Given the description of an element on the screen output the (x, y) to click on. 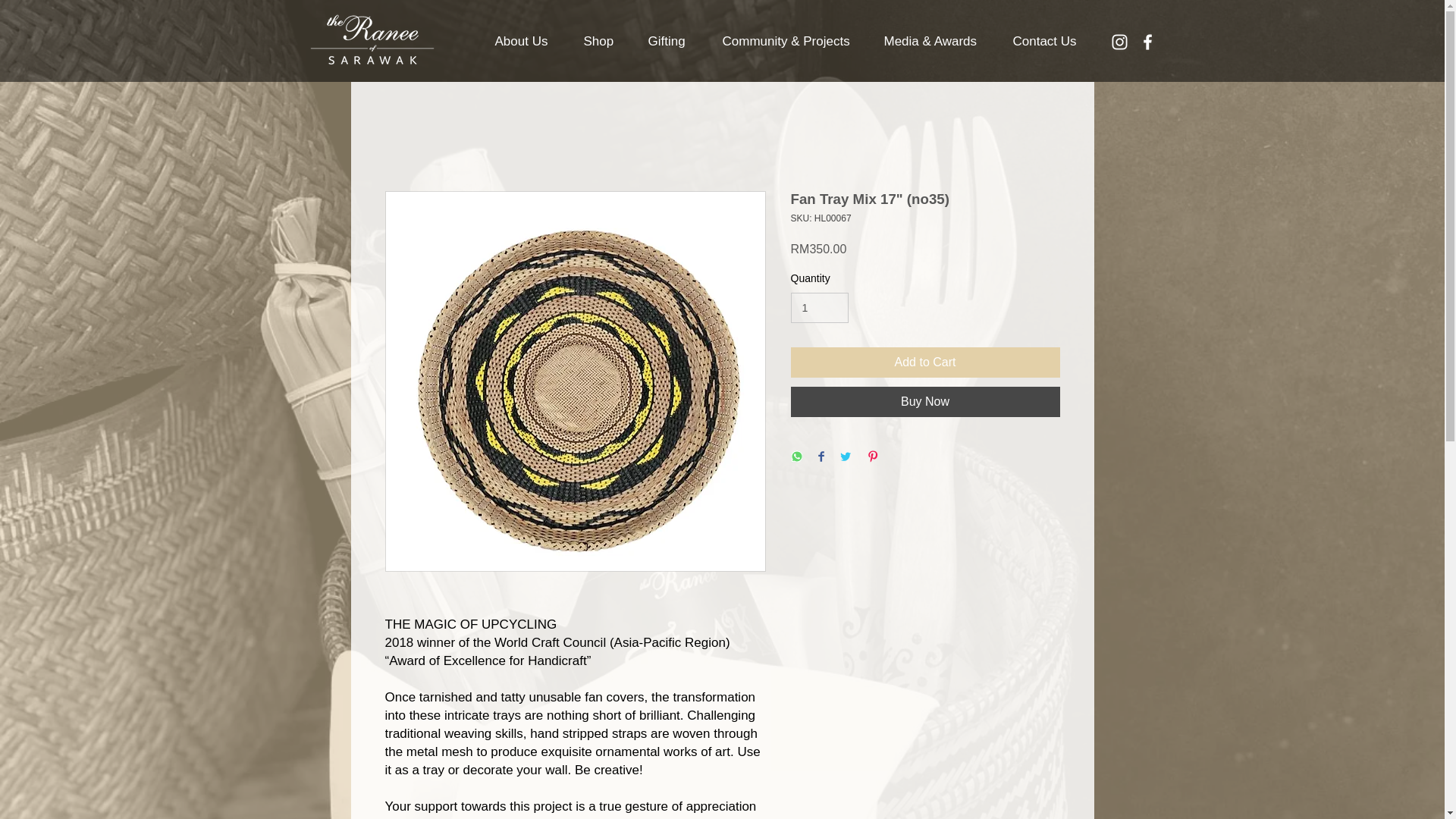
Add to Cart (924, 362)
Contact Us (1054, 41)
1 (818, 307)
Shop (608, 41)
Buy Now (924, 401)
About Us (530, 41)
Gifting (677, 41)
